Given the description of an element on the screen output the (x, y) to click on. 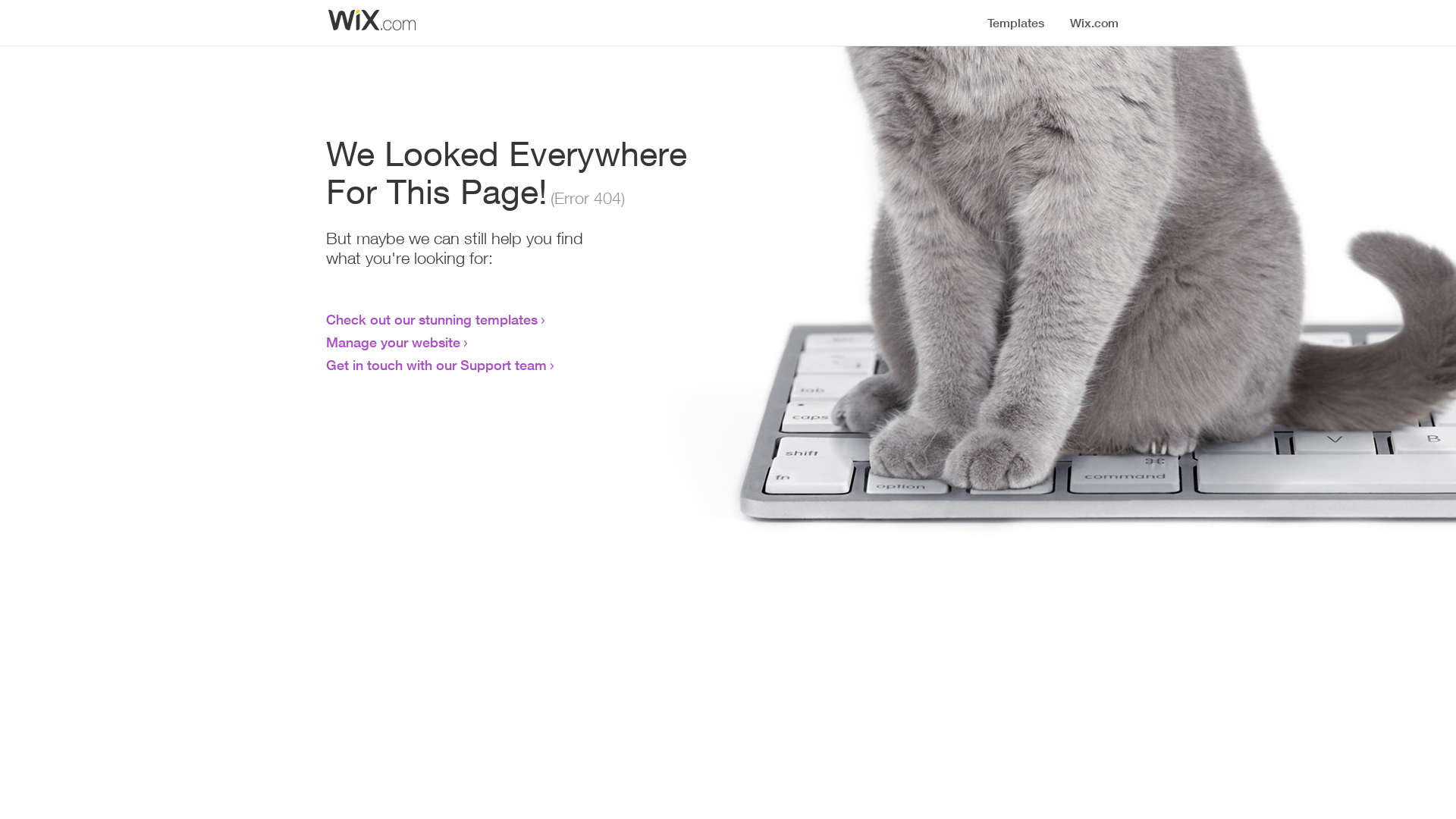
Manage your website Element type: text (393, 341)
Check out our stunning templates Element type: text (431, 318)
Get in touch with our Support team Element type: text (436, 364)
